Given the description of an element on the screen output the (x, y) to click on. 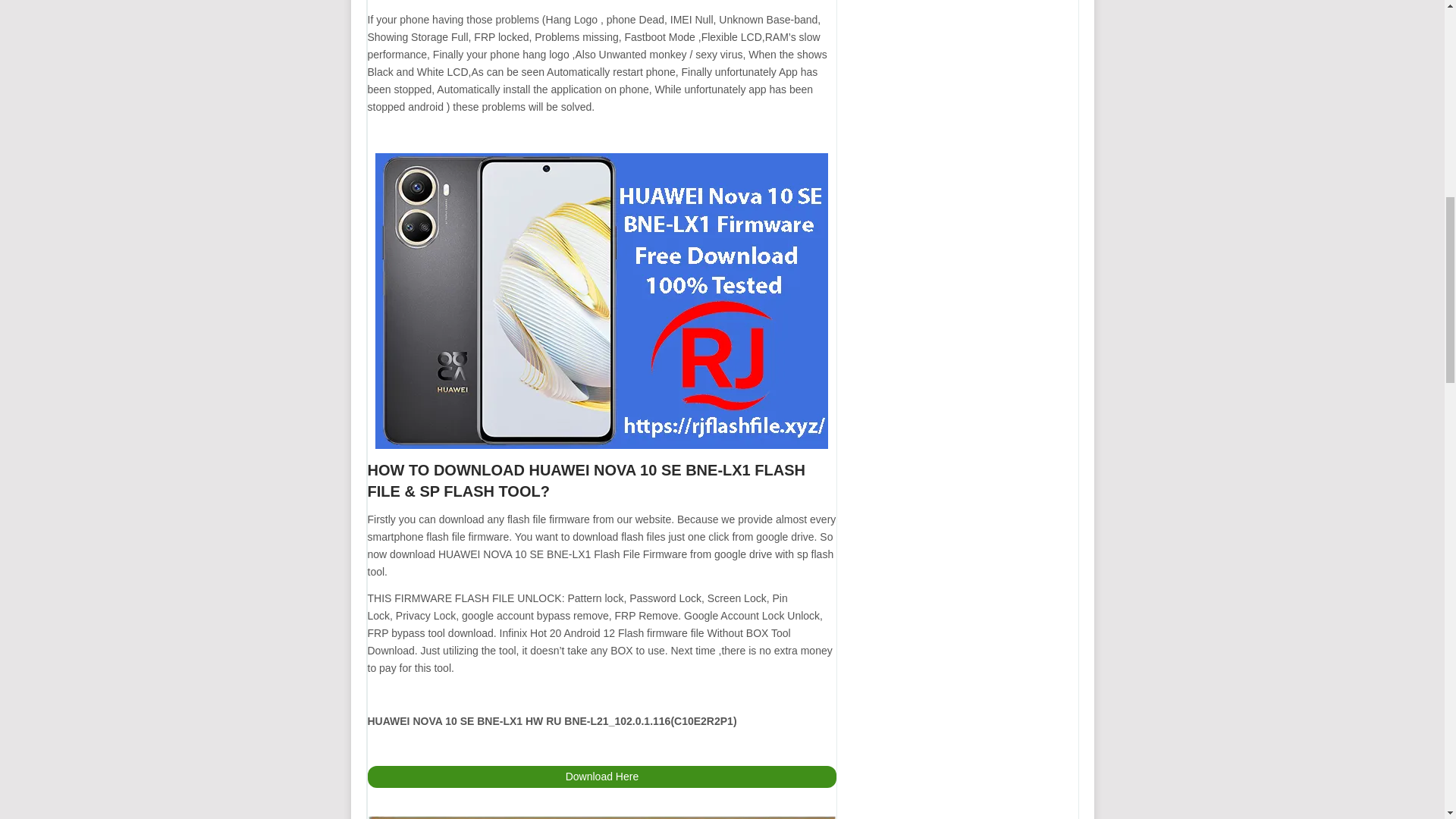
Download Here (600, 776)
